Given the description of an element on the screen output the (x, y) to click on. 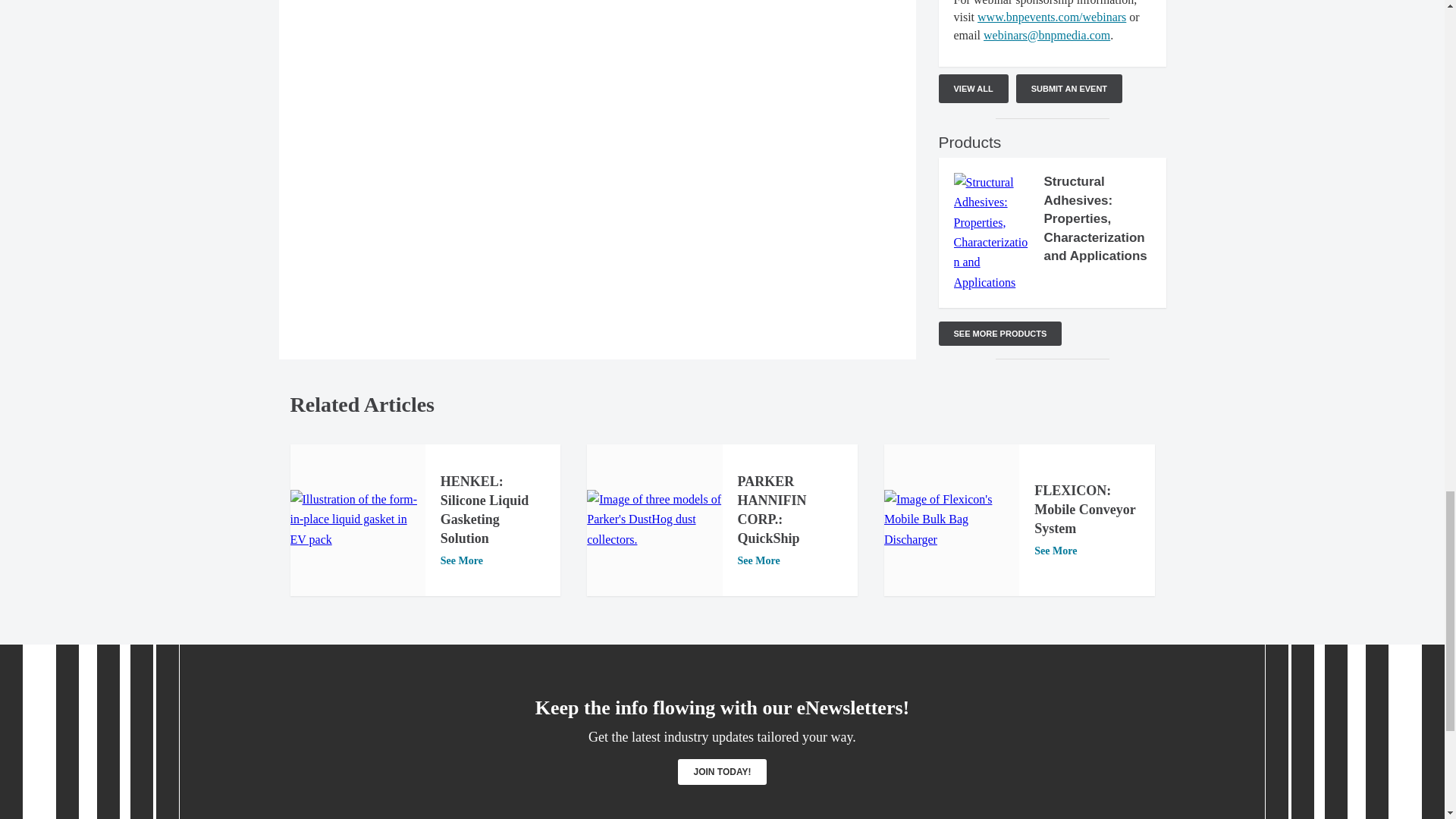
Illustration of the form-in-place liquid gasket in EV pack (357, 519)
Flexicon Mobile Bulk Bag Discharger (951, 519)
Parker DustHog models (654, 519)
